Given the description of an element on the screen output the (x, y) to click on. 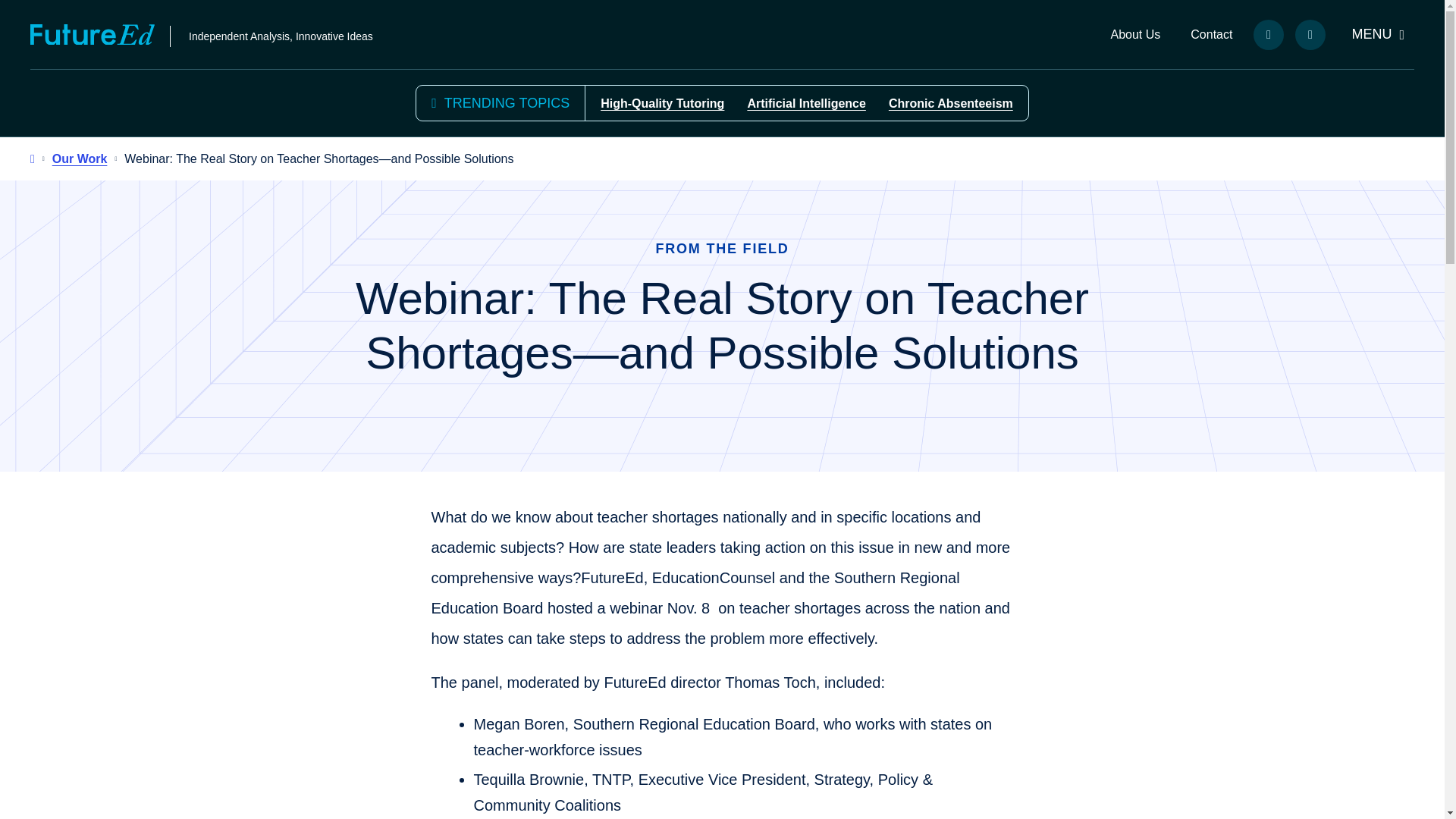
See FutureEd on LinkedIn (1268, 34)
Contact (1211, 34)
MENU (1376, 34)
FutureEd (92, 34)
Artificial Intelligence (805, 103)
See FutureEd on Twitter (1309, 34)
About Us (1135, 34)
High-Quality Tutoring (661, 103)
